Given the description of an element on the screen output the (x, y) to click on. 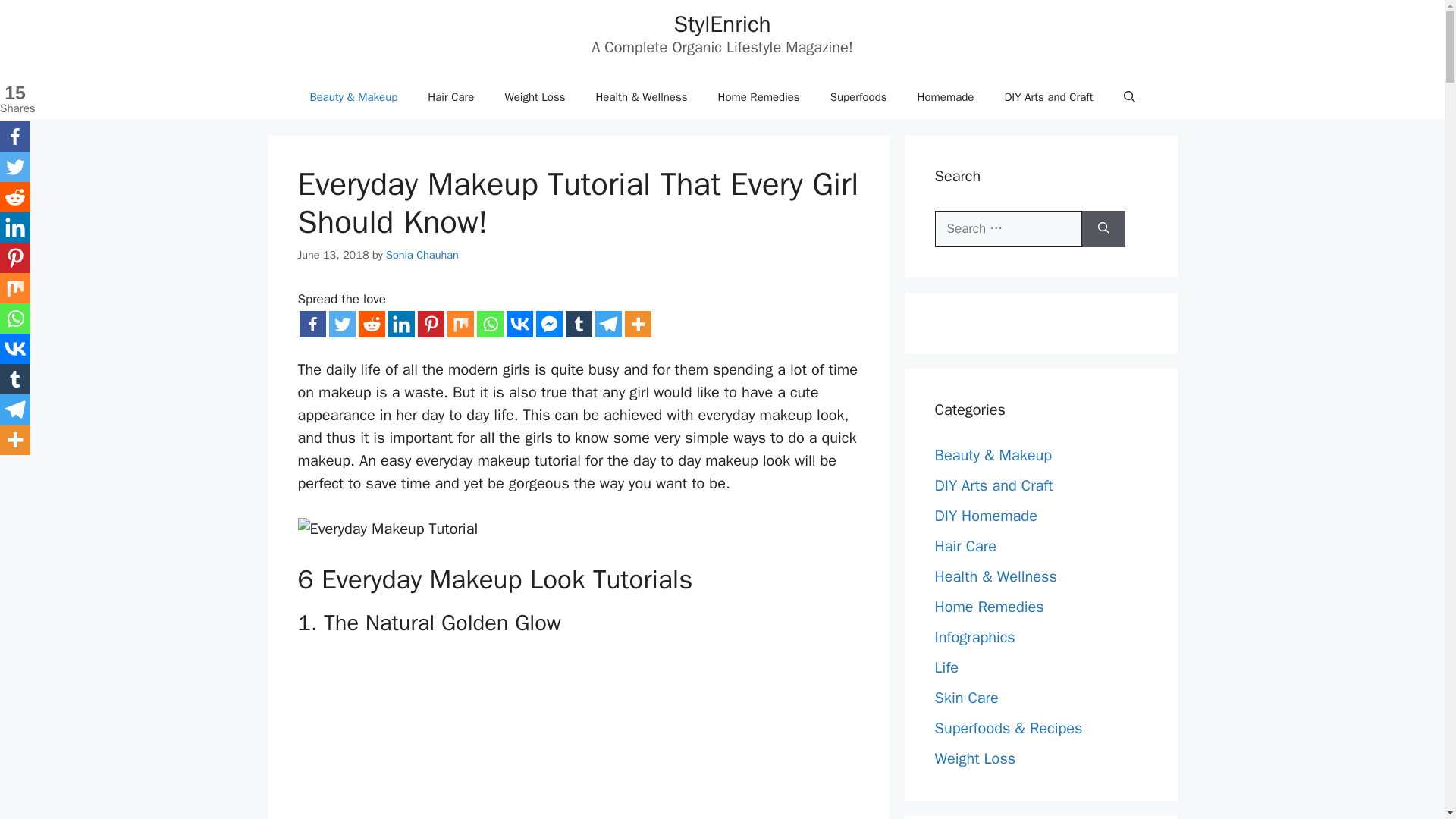
Facebook (311, 324)
Linkedin (401, 324)
Superfoods (858, 96)
Homemade (946, 96)
More (637, 324)
Whatsapp (489, 324)
Natural Golden Glow (448, 735)
Sonia Chauhan (421, 254)
View all posts by Sonia Chauhan (421, 254)
Hair Care (450, 96)
